Given the description of an element on the screen output the (x, y) to click on. 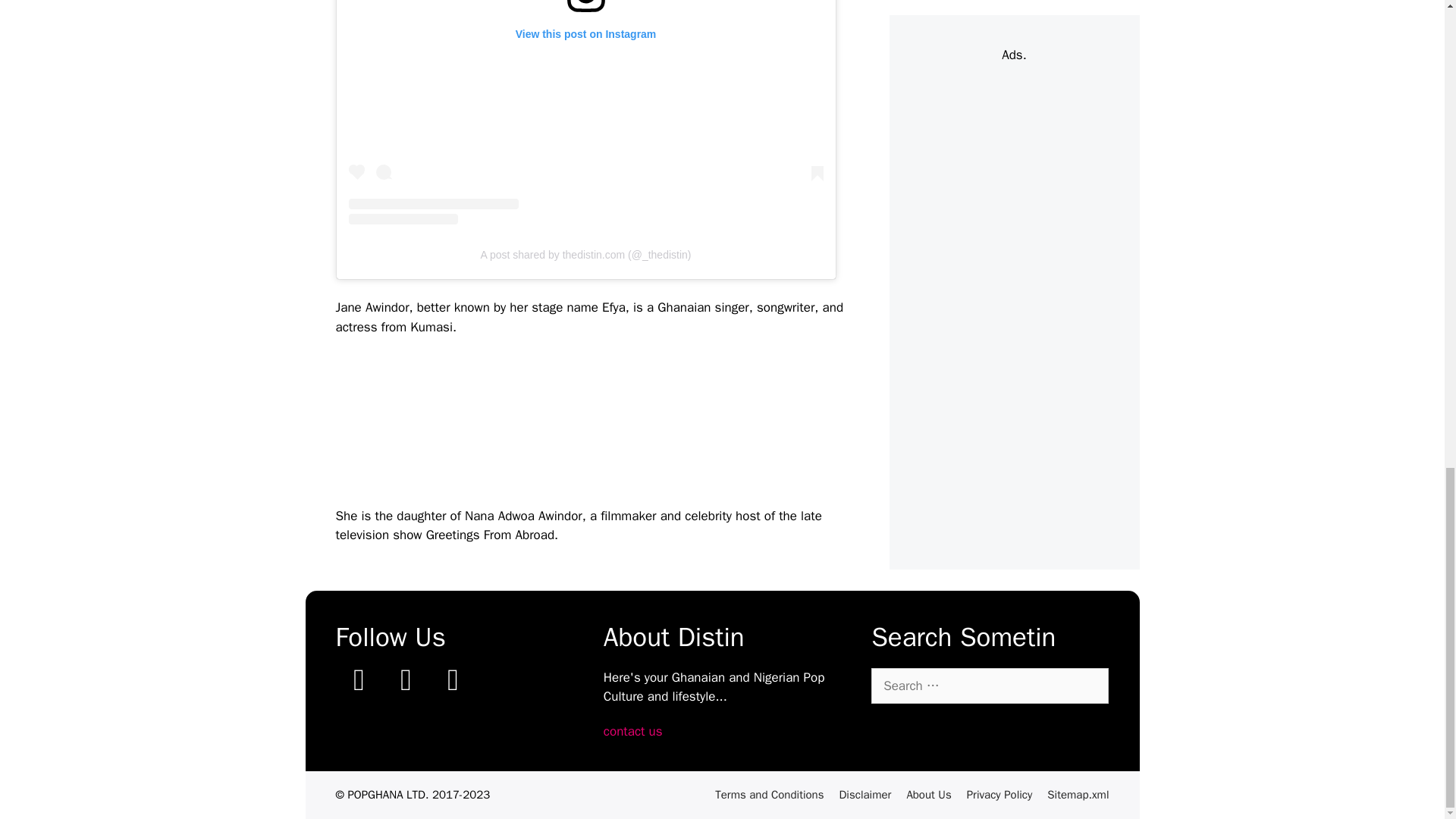
Search for: (989, 686)
View this post on Instagram (586, 112)
Disclaimer (864, 794)
contact us (633, 731)
Privacy Policy (999, 794)
Advertisement (611, 425)
Sitemap.xml (1077, 794)
Terms and Conditions (769, 794)
About Us (927, 794)
